Given the description of an element on the screen output the (x, y) to click on. 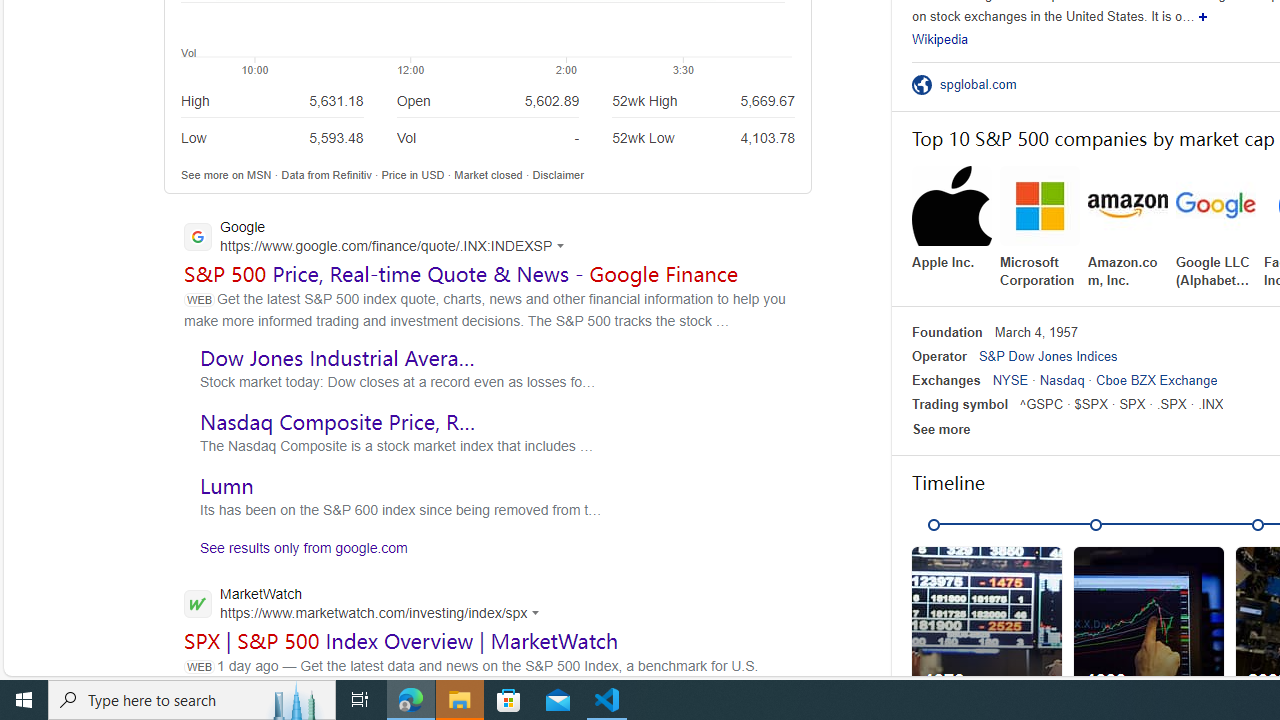
Foundation (947, 331)
Wikipedia (939, 38)
MSN (259, 173)
Class: sp-ofsite (921, 84)
Operator (938, 356)
